Given the description of an element on the screen output the (x, y) to click on. 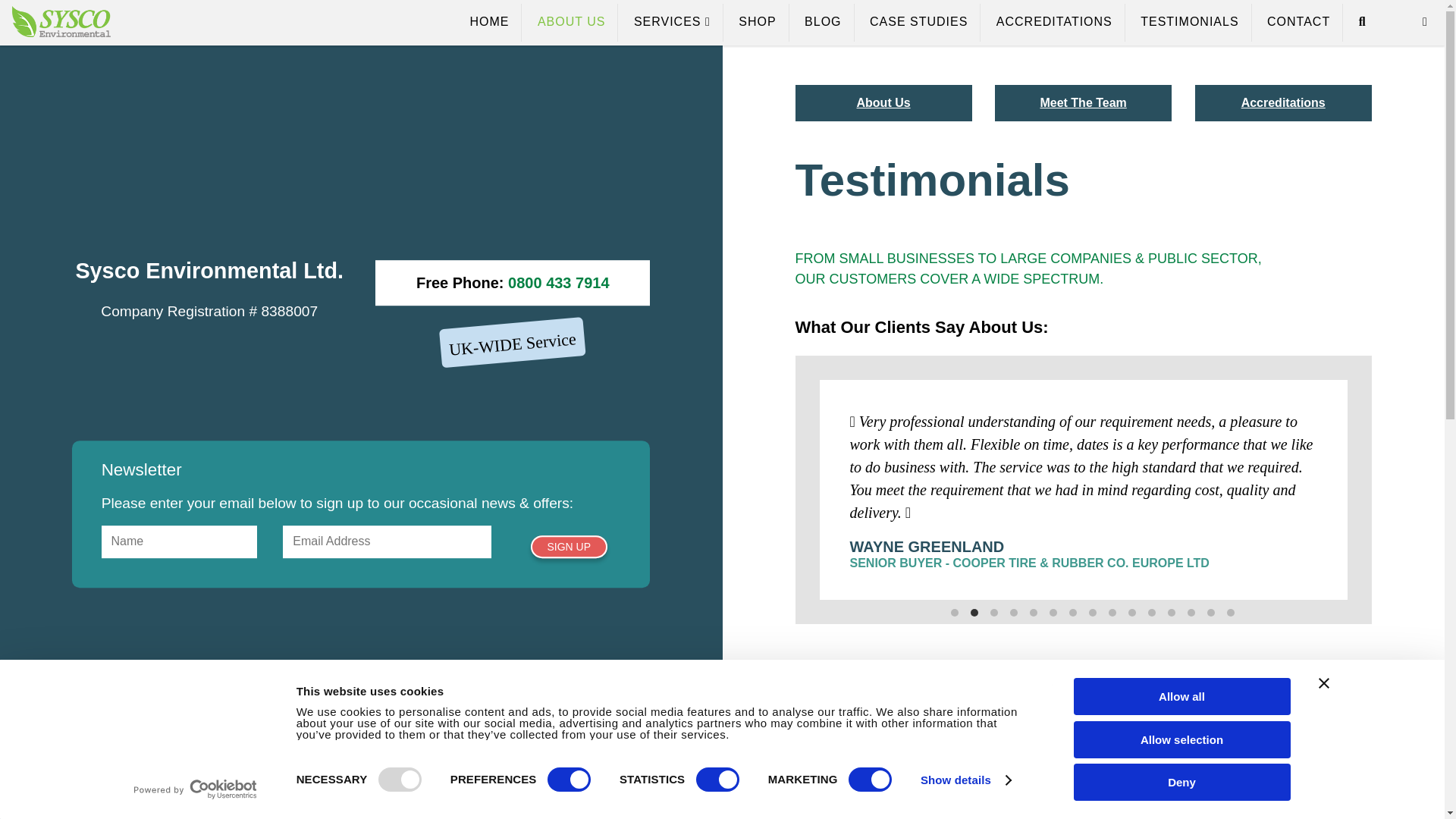
Deny (1182, 781)
Sysco Environmental (60, 32)
Allow selection (1182, 738)
Show details (965, 780)
Allow all (1182, 696)
